Given the description of an element on the screen output the (x, y) to click on. 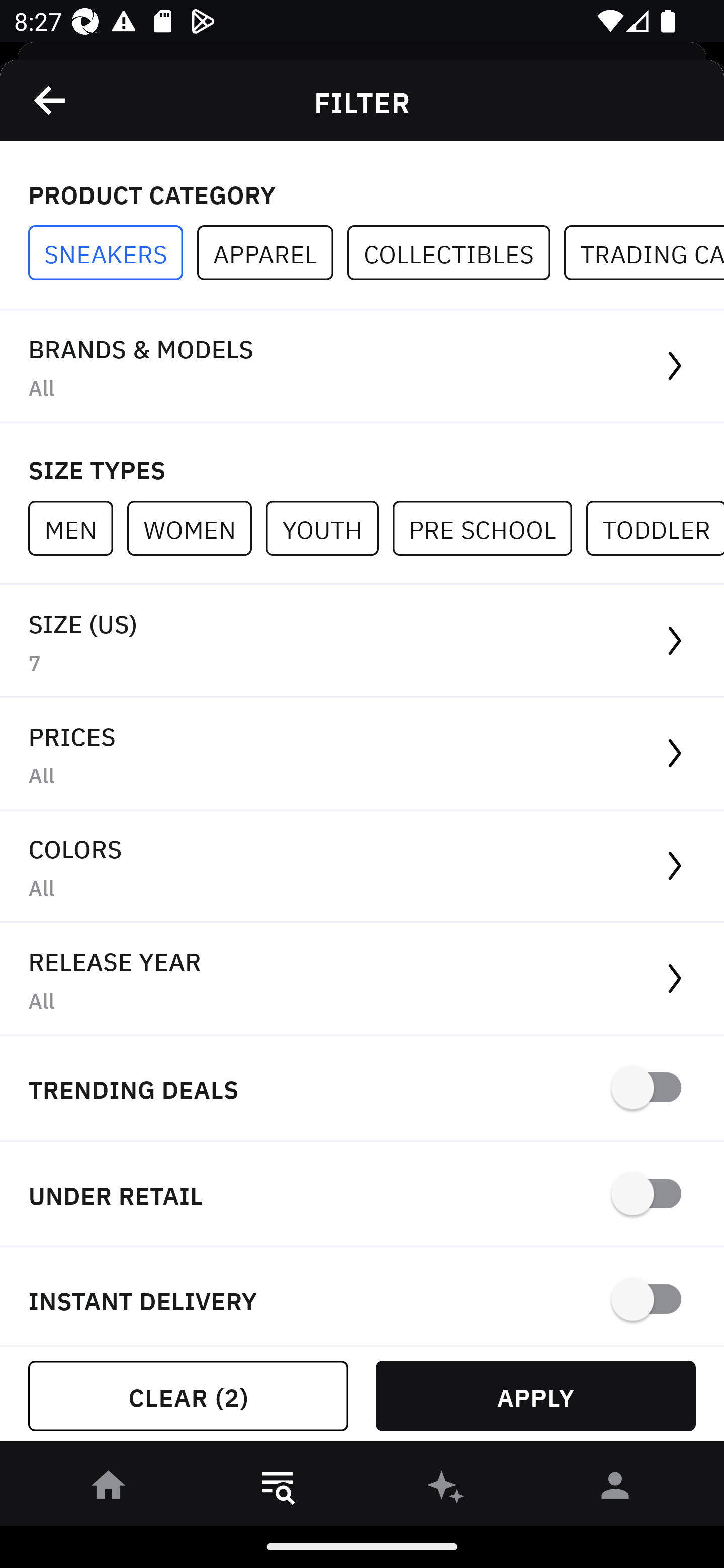
 (50, 100)
SNEAKERS (112, 252)
APPAREL (271, 252)
COLLECTIBLES (455, 252)
TRADING CARDS (643, 252)
BRANDS & MODELS All (362, 366)
MEN (77, 527)
WOMEN (196, 527)
YOUTH (328, 527)
PRE SCHOOL (489, 527)
TODDLER (655, 527)
SIZE (US) 7 (362, 640)
PRICES All (362, 753)
COLORS All (362, 866)
RELEASE YEAR All (362, 979)
TRENDING DEALS (362, 1088)
UNDER RETAIL (362, 1194)
INSTANT DELIVERY (362, 1296)
CLEAR (2) (188, 1396)
APPLY (535, 1396)
󰋜 (108, 1488)
󱎸 (277, 1488)
󰫢 (446, 1488)
󰀄 (615, 1488)
